Given the description of an element on the screen output the (x, y) to click on. 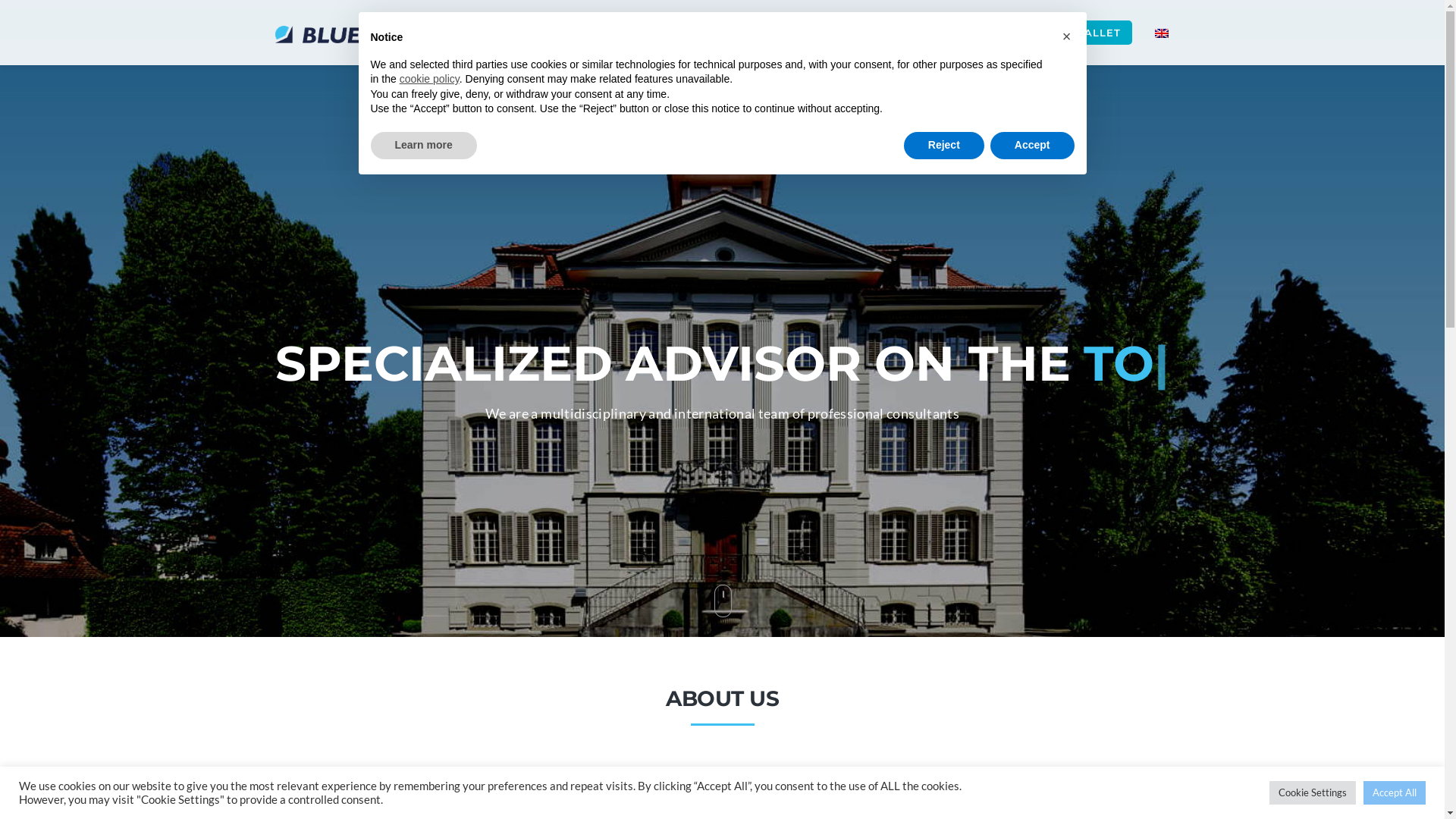
Cookie Settings Element type: text (1312, 792)
Learn more Element type: text (423, 145)
WALLET Element type: text (1096, 32)
Accept Element type: text (1032, 145)
Accept All Element type: text (1394, 792)
Reject Element type: text (943, 145)
Bluestar Element type: hover (344, 32)
cookie policy Element type: text (429, 78)
